Given the description of an element on the screen output the (x, y) to click on. 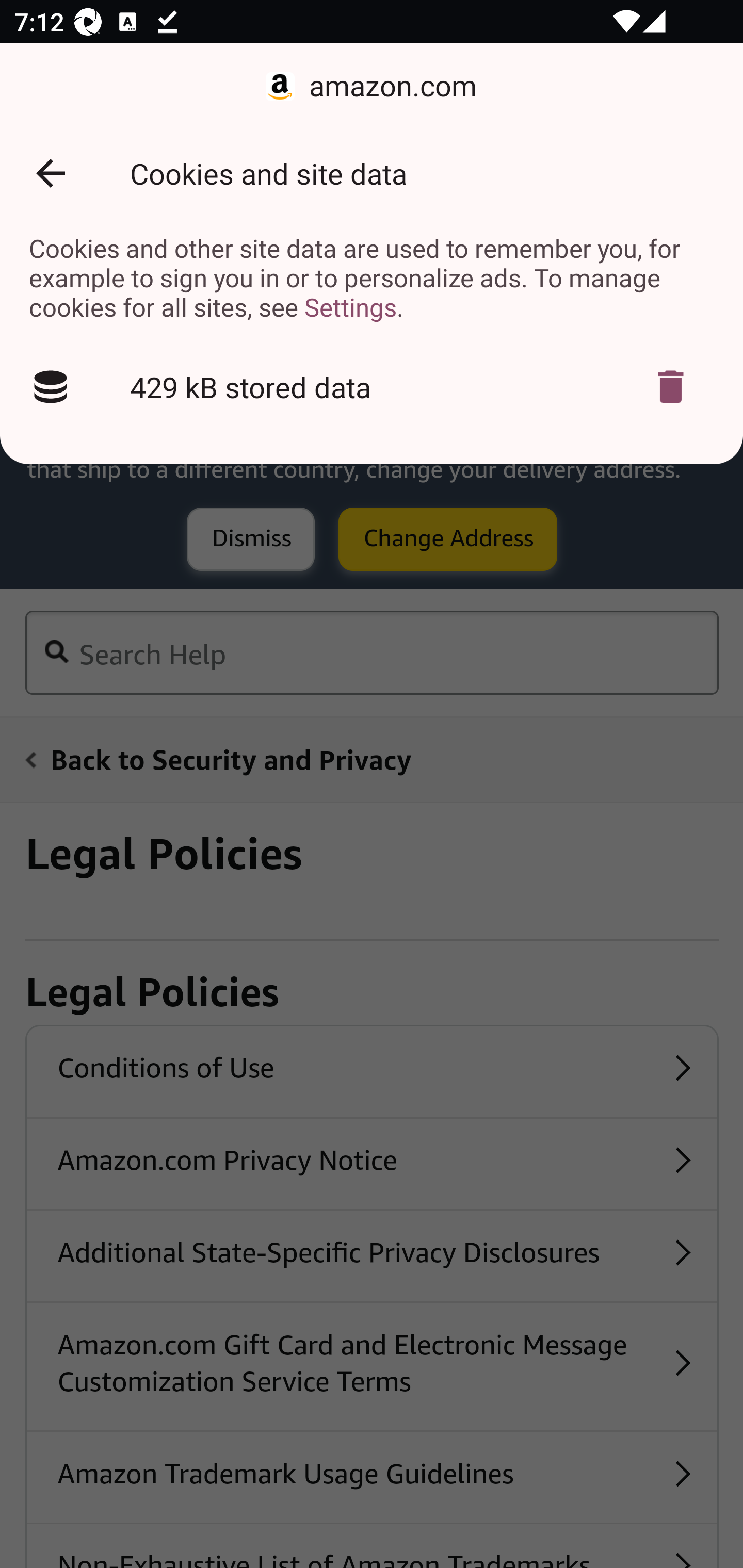
amazon.com (371, 86)
Back (50, 173)
429 kB stored data Delete cookies? (371, 386)
